Given the description of an element on the screen output the (x, y) to click on. 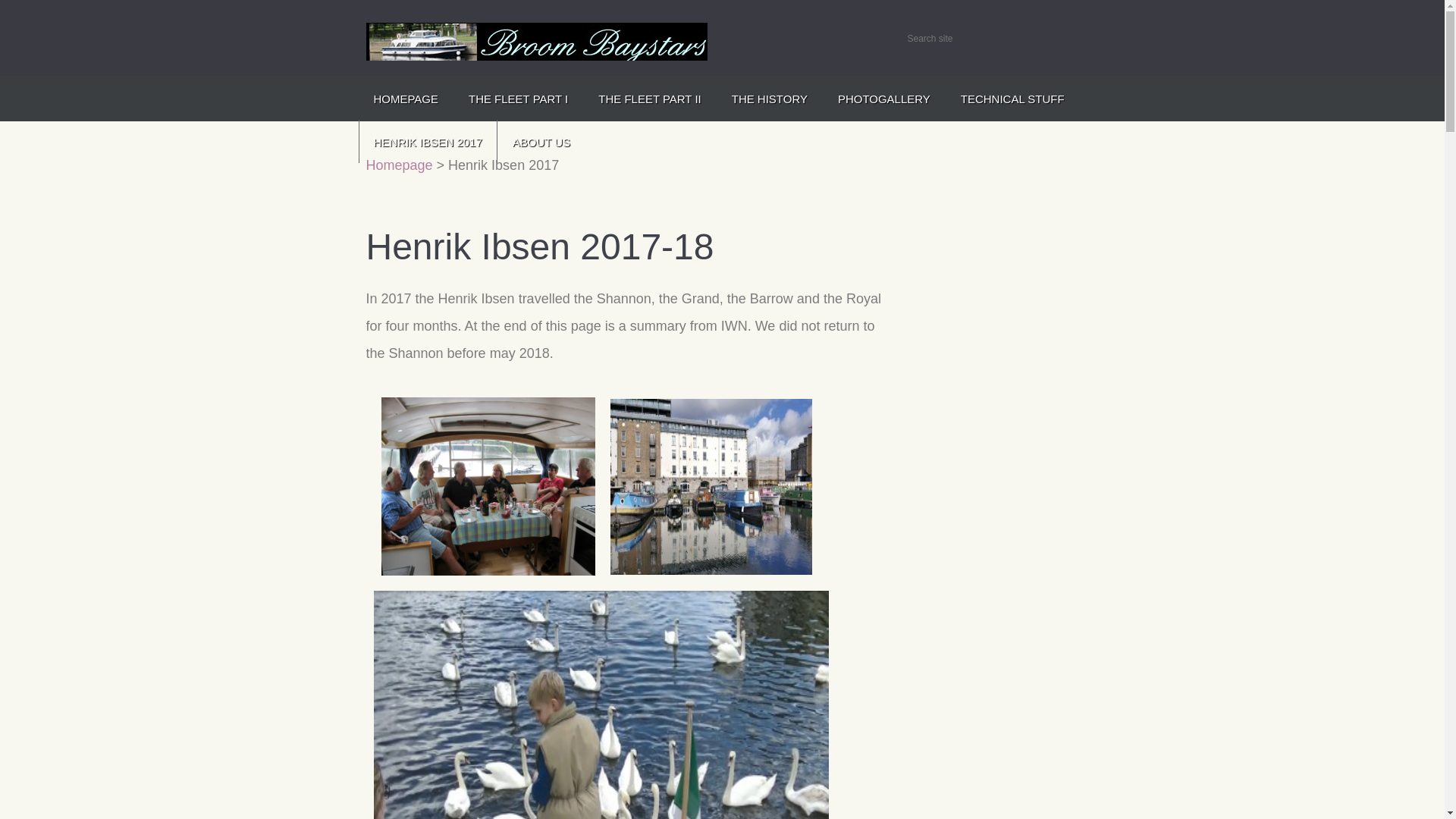
THE FLEET PART II (649, 97)
THE FLEET PART I (517, 97)
HOMEPAGE (405, 97)
Go to Homepage. (535, 55)
Search (1066, 37)
